Given the description of an element on the screen output the (x, y) to click on. 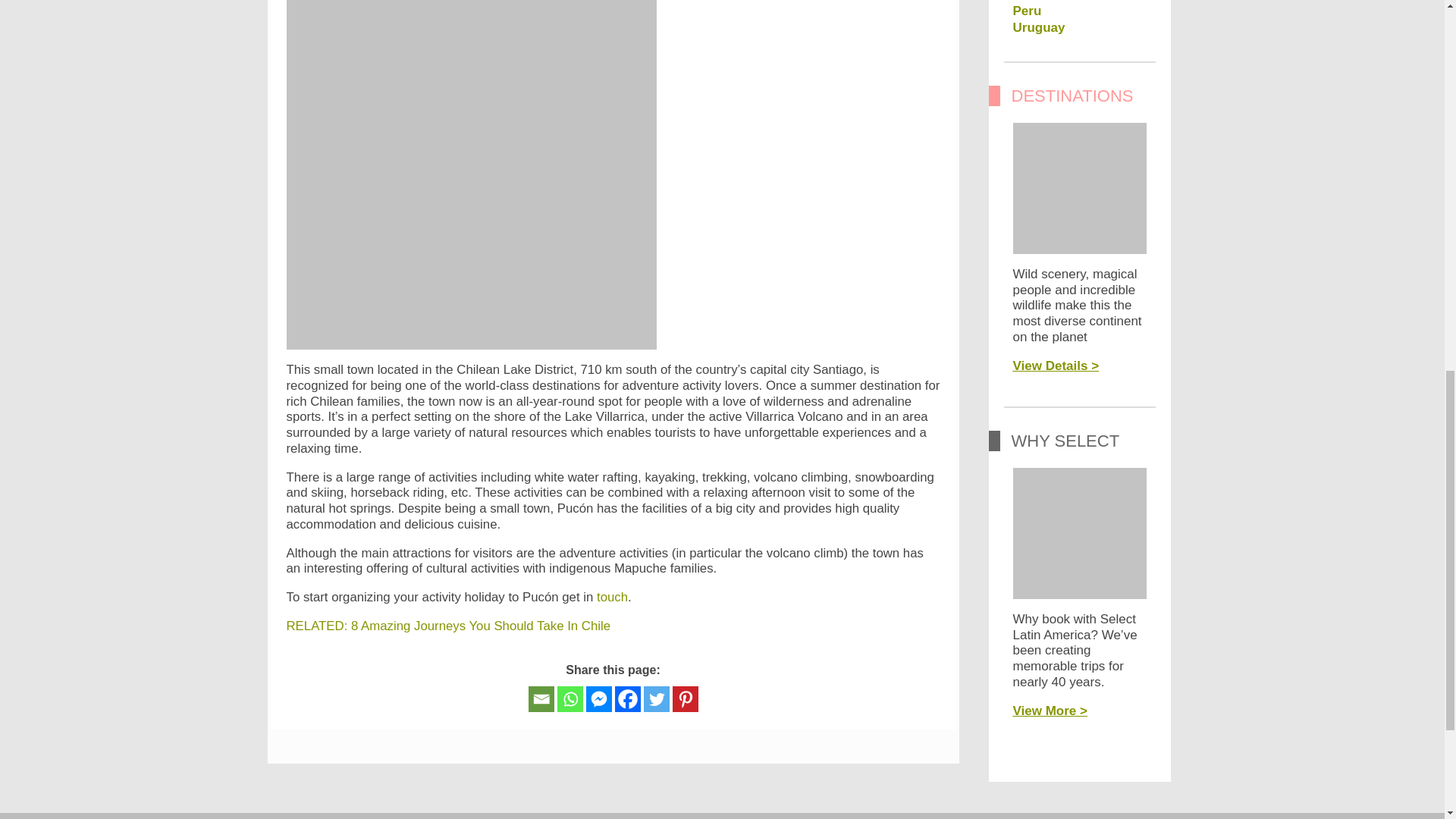
Facebook (627, 698)
Email (540, 698)
Twitter (655, 698)
Pinterest (684, 698)
Whatsapp (569, 698)
